Given the description of an element on the screen output the (x, y) to click on. 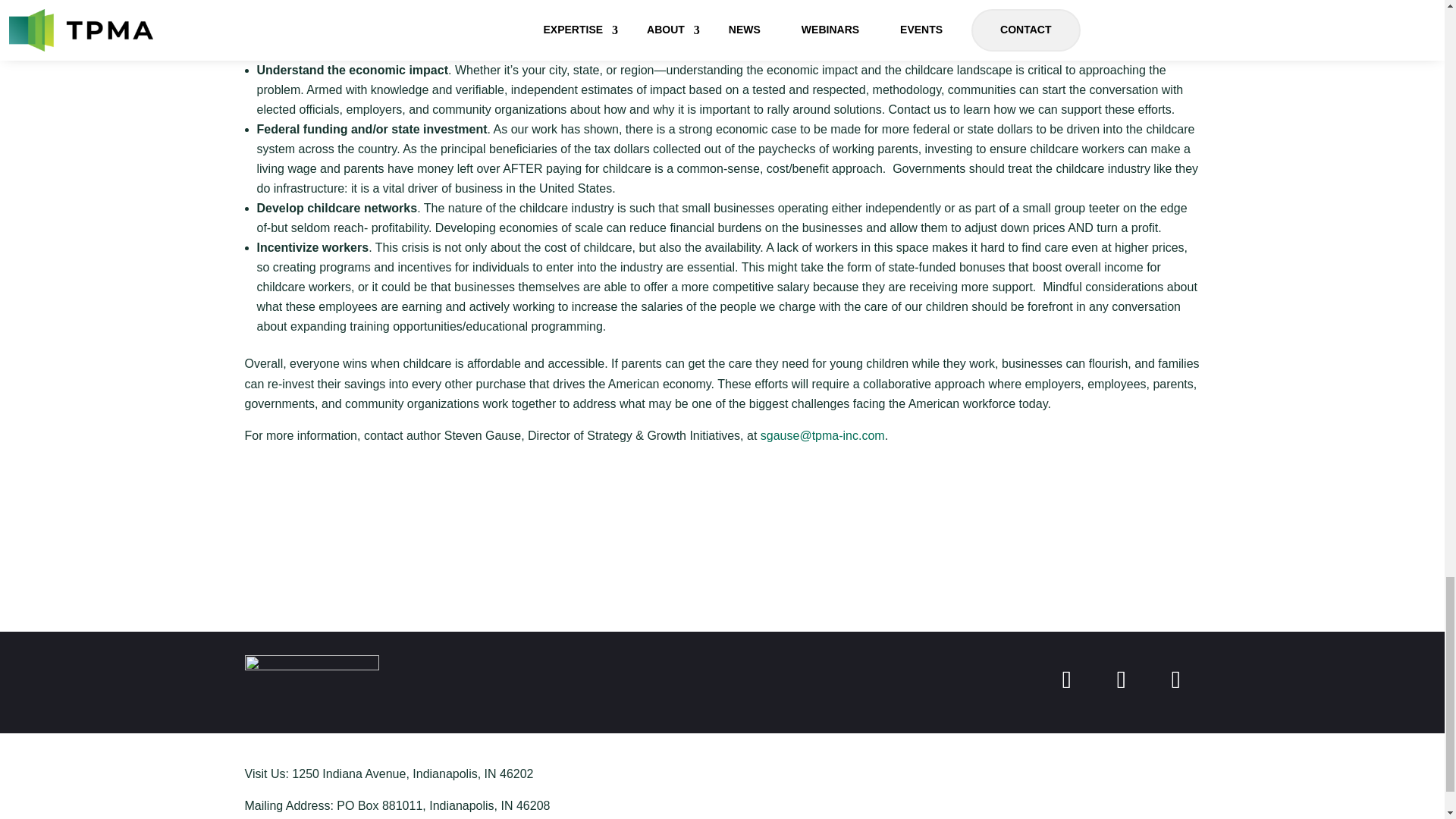
Follow on X (1175, 679)
Follow on LinkedIn (1120, 679)
tpma-white (311, 674)
Follow on Facebook (1066, 679)
